Given the description of an element on the screen output the (x, y) to click on. 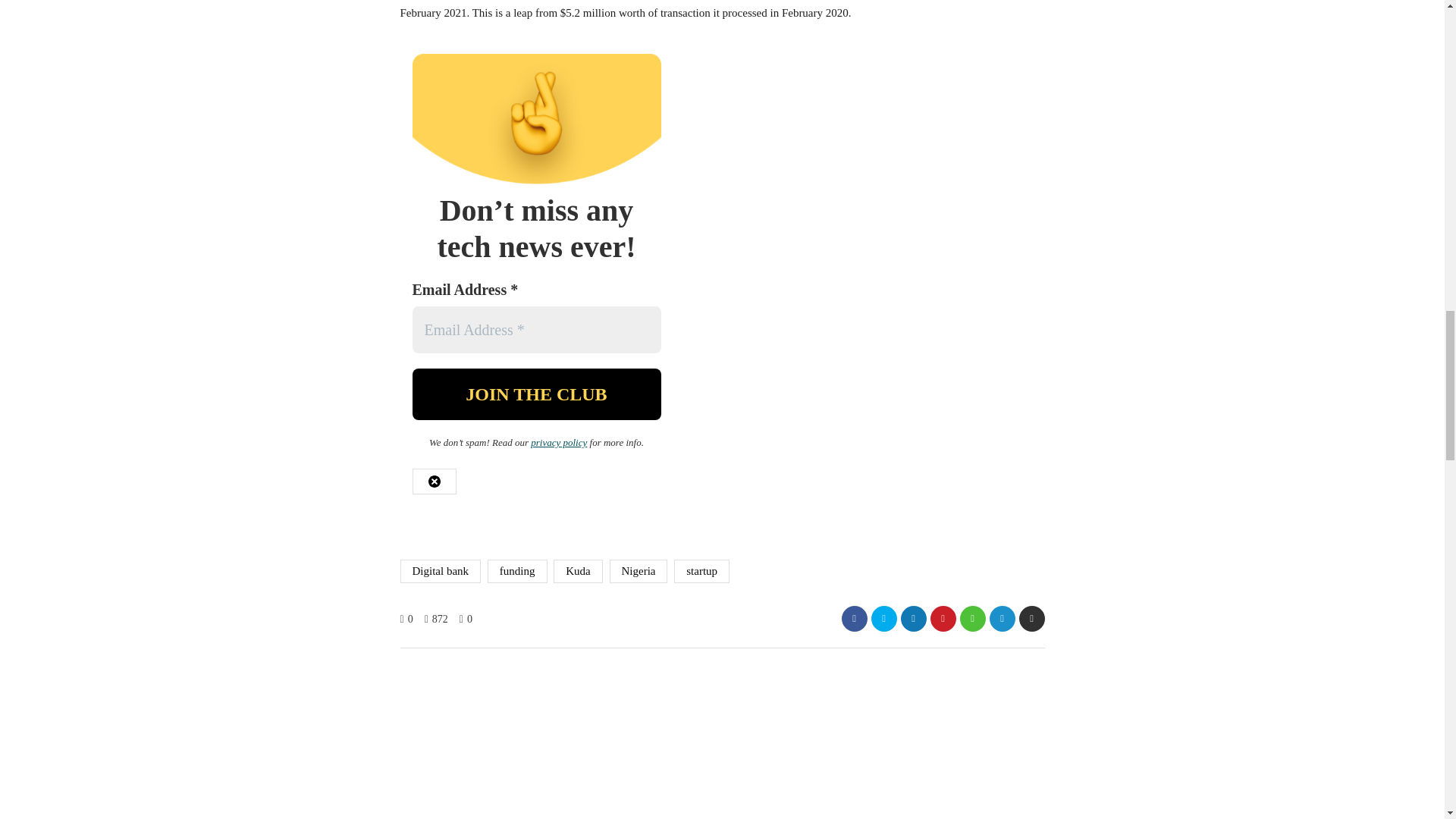
JOIN THE CLUB (536, 394)
privacy policy (558, 441)
JOIN THE CLUB (536, 394)
Email Address (536, 329)
